Given the description of an element on the screen output the (x, y) to click on. 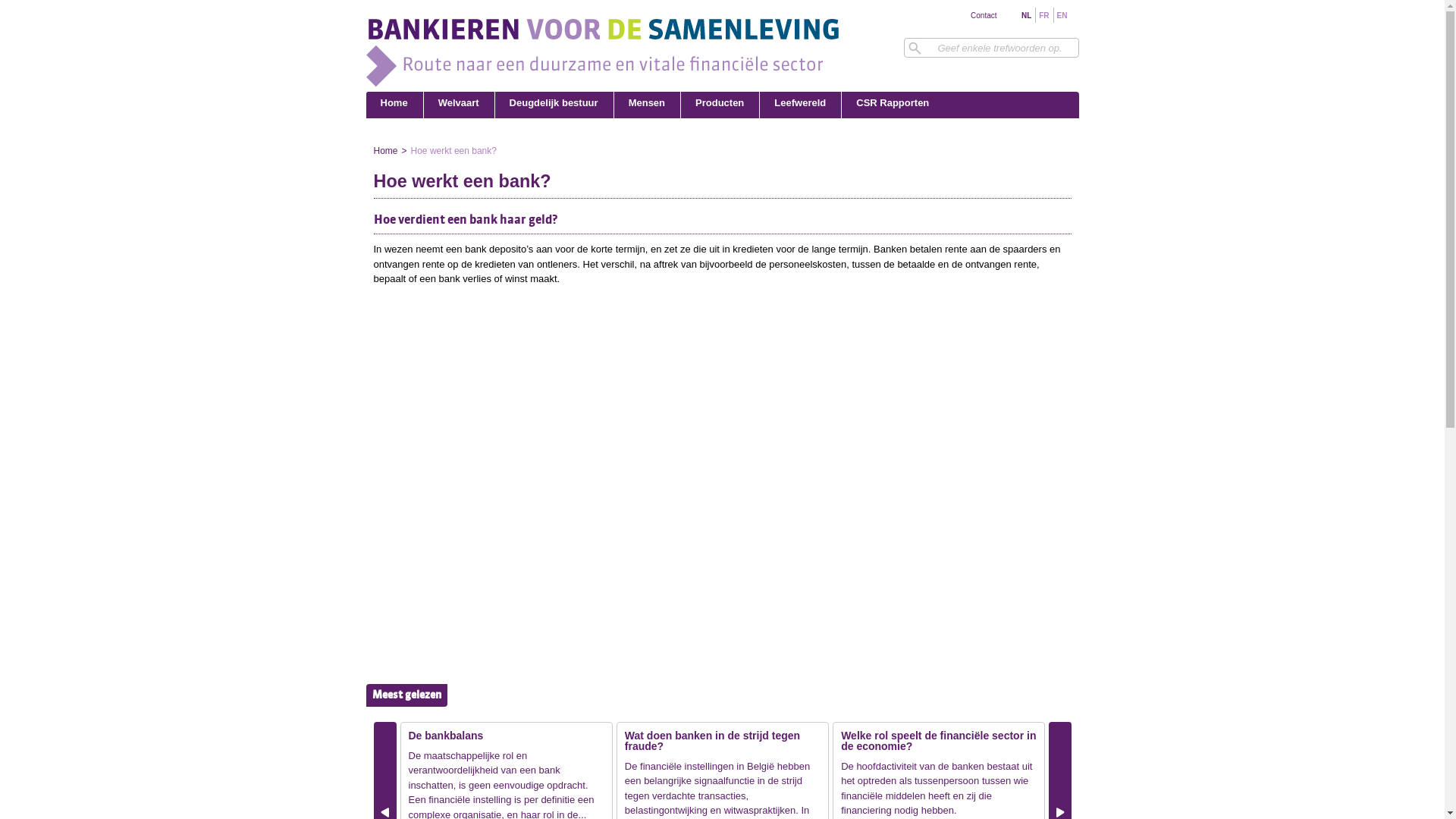
Welvaart Element type: text (458, 104)
Producten Element type: text (719, 104)
Deugdelijk bestuur Element type: text (554, 104)
Home Element type: text (385, 150)
Home Element type: hover (602, 83)
FR Element type: text (1043, 15)
Mensen Element type: text (647, 104)
Home Element type: text (393, 104)
Contact Element type: text (984, 15)
Toepassen Element type: text (24, 6)
NL Element type: text (1026, 15)
EN Element type: text (1062, 15)
Leefwereld Element type: text (799, 104)
CSR Rapporten Element type: text (892, 104)
